Given the description of an element on the screen output the (x, y) to click on. 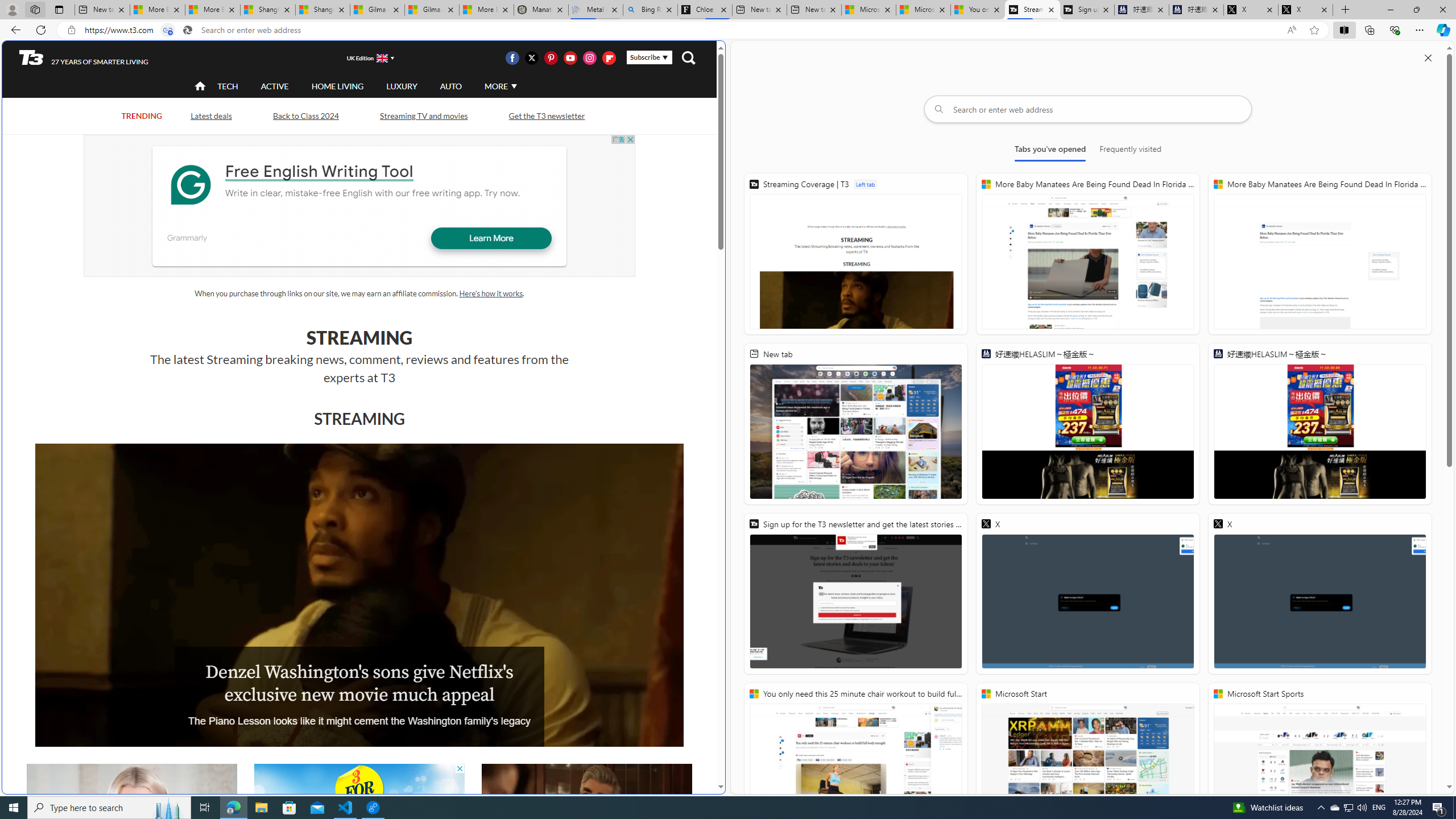
Visit us on Flipboard (608, 57)
Microsoft Start Sports (869, 9)
AUTO (450, 85)
Visit us on Pintrest (550, 57)
Subscribe (649, 56)
LUXURY (401, 85)
TECH (227, 85)
Get the T3 newsletter (546, 115)
MORE  (499, 86)
